Given the description of an element on the screen output the (x, y) to click on. 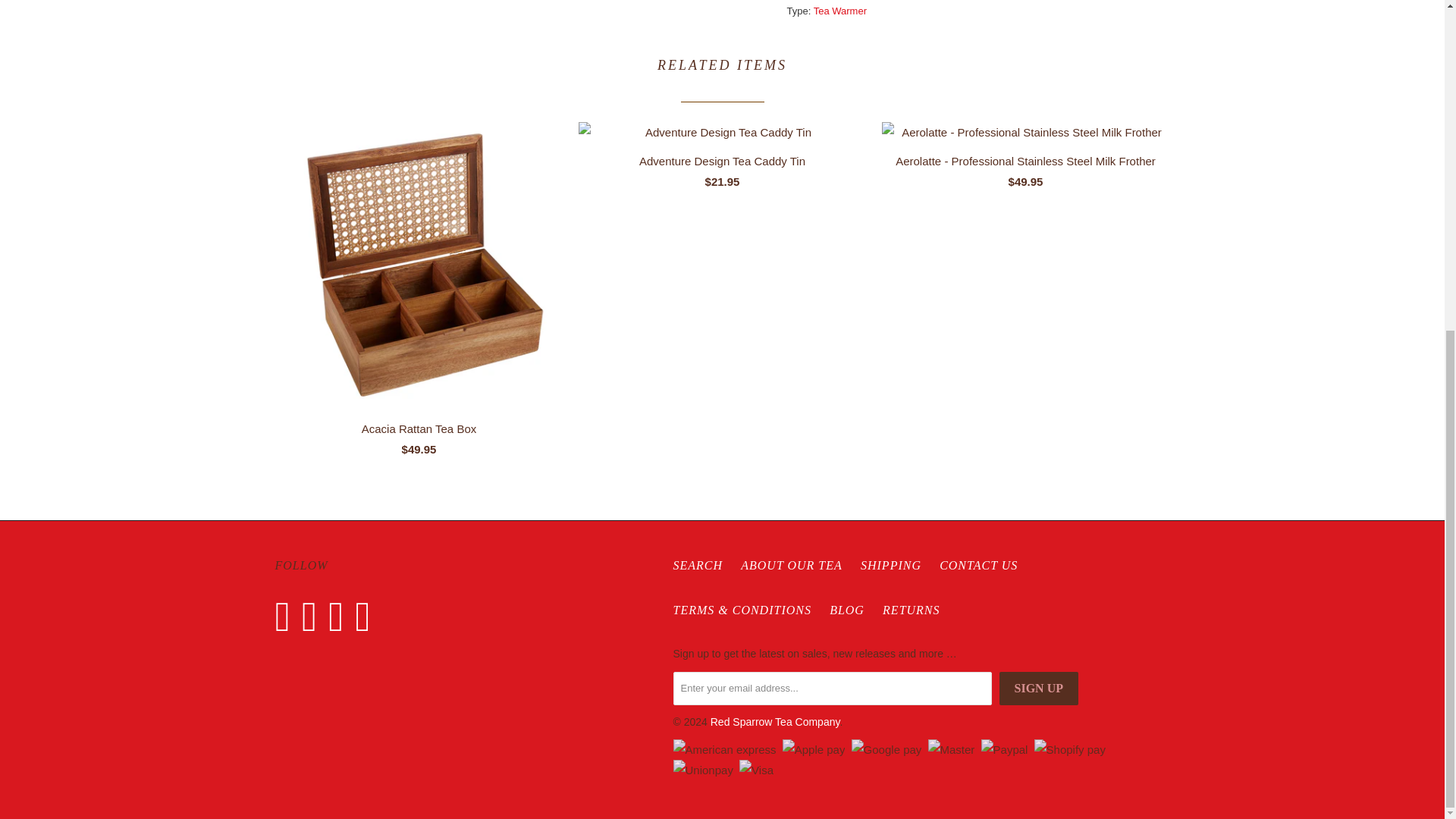
Tea Warmer (839, 10)
Sign Up (1038, 688)
